Given the description of an element on the screen output the (x, y) to click on. 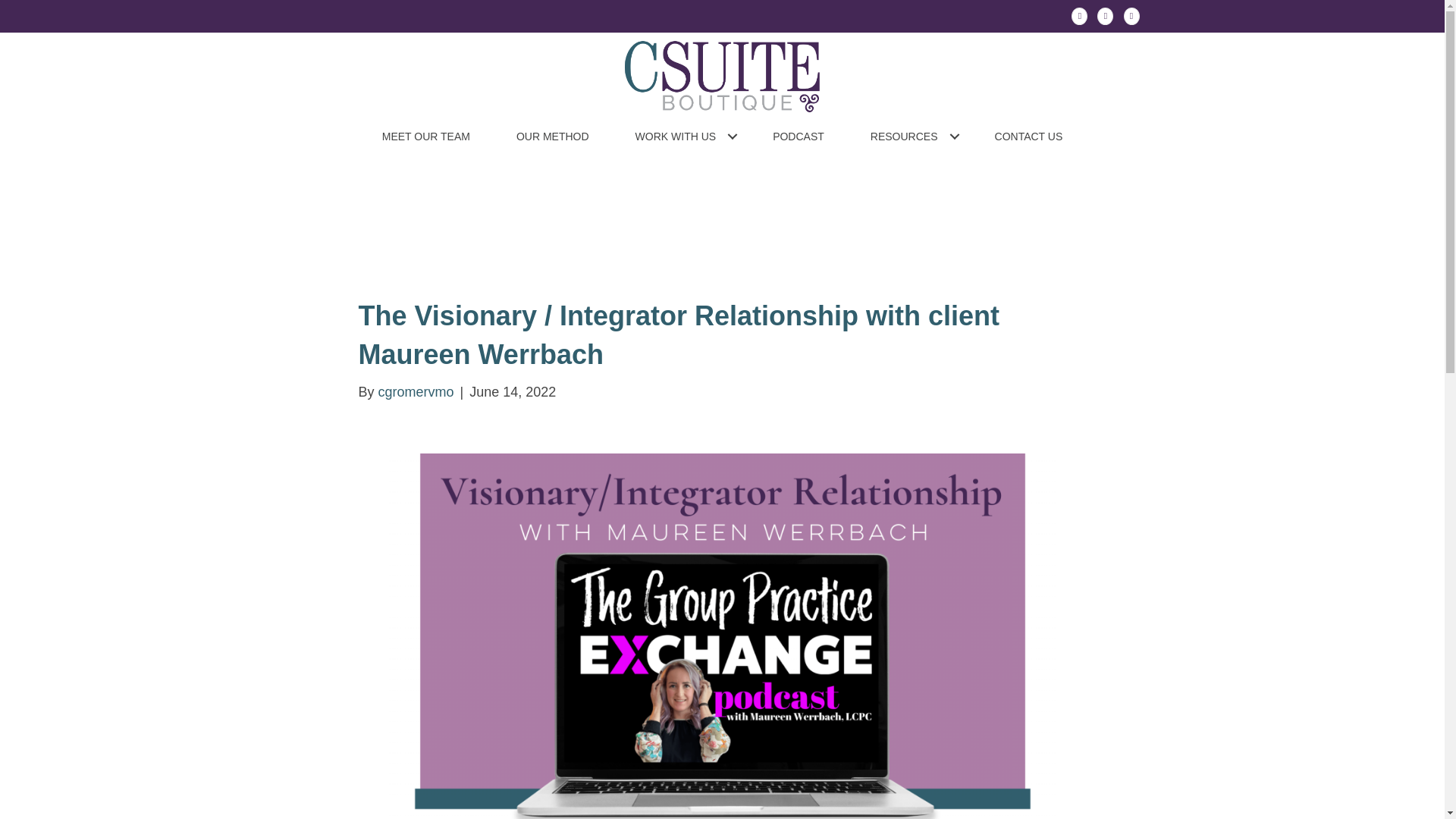
PODCAST (798, 136)
CONTACT US (1029, 136)
RESOURCES (909, 136)
MEET OUR TEAM (426, 136)
OUR METHOD (552, 136)
cgromervmo (416, 391)
WORK WITH US (680, 136)
